Given the description of an element on the screen output the (x, y) to click on. 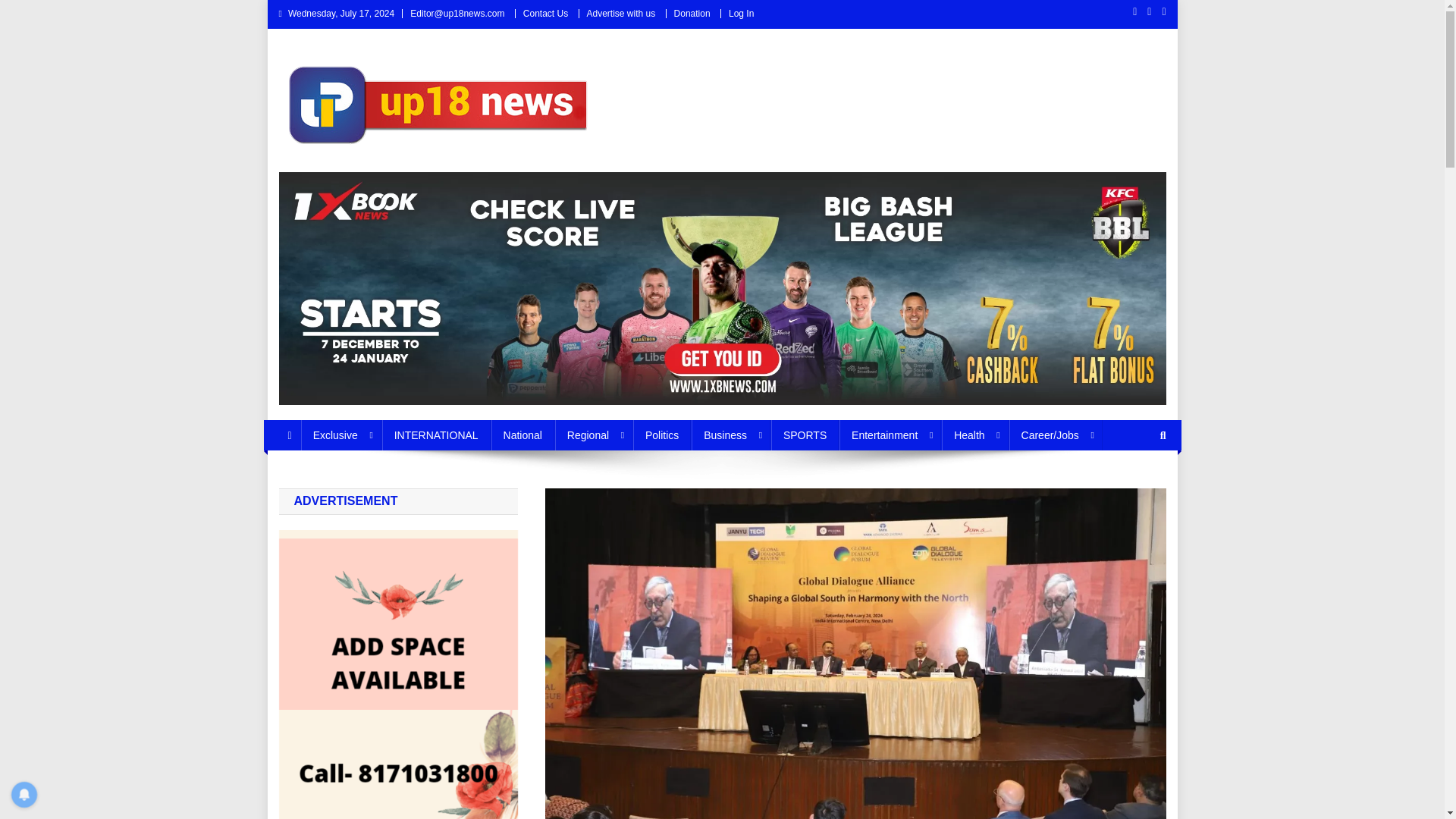
Regional News (592, 435)
Advertise with us (621, 13)
Business (730, 435)
Up18 News (344, 171)
Donation (692, 13)
National (523, 435)
Entertainment News (890, 435)
Log In (741, 13)
National News (523, 435)
INTERNATIONAL News (435, 435)
Exclusive News (341, 435)
INTERNATIONAL (435, 435)
Politics News (661, 435)
Politics (661, 435)
SPORTS News (804, 435)
